Given the description of an element on the screen output the (x, y) to click on. 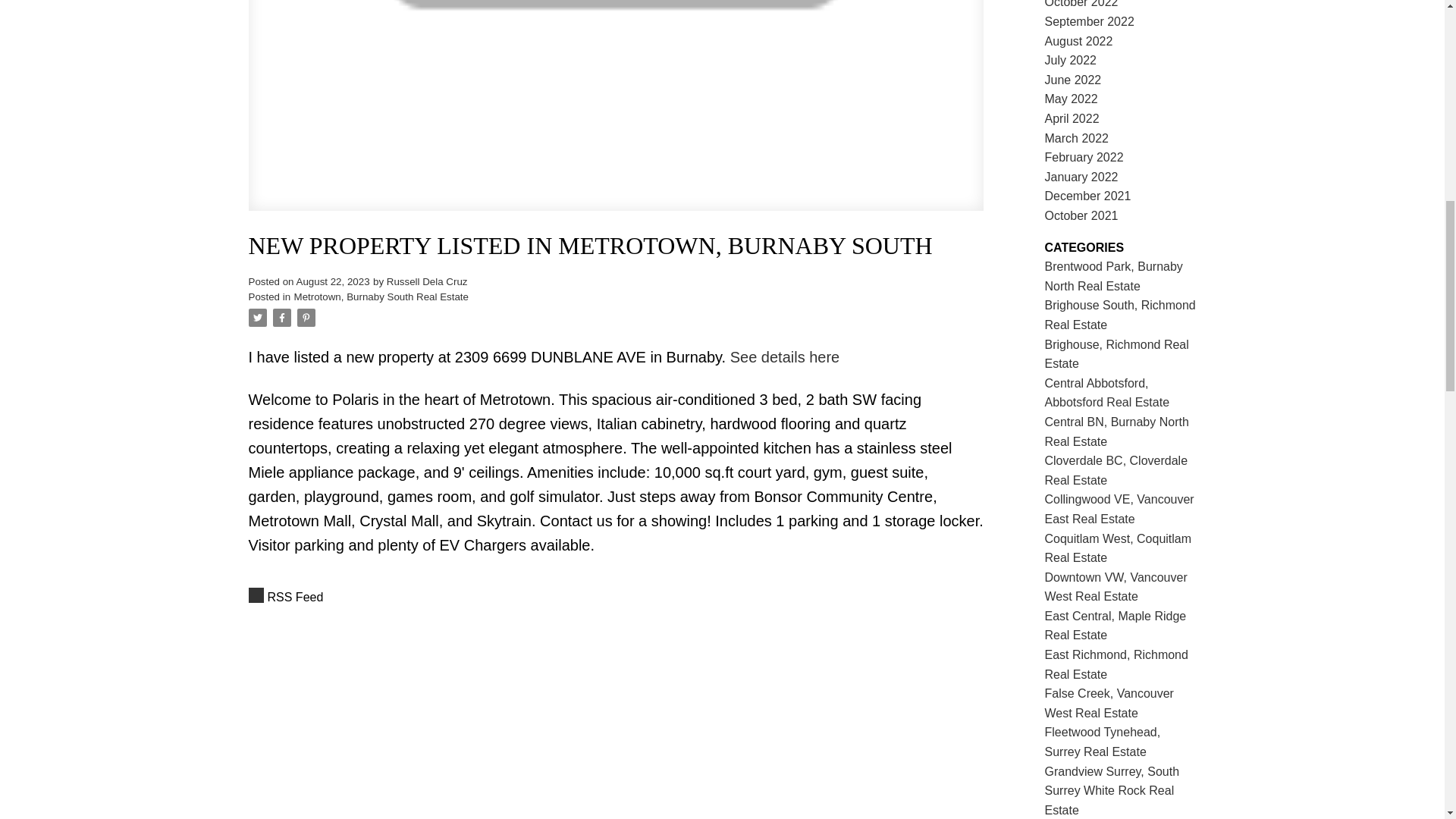
Metrotown, Burnaby South Real Estate (381, 296)
RSS (616, 597)
See details here (785, 356)
